Given the description of an element on the screen output the (x, y) to click on. 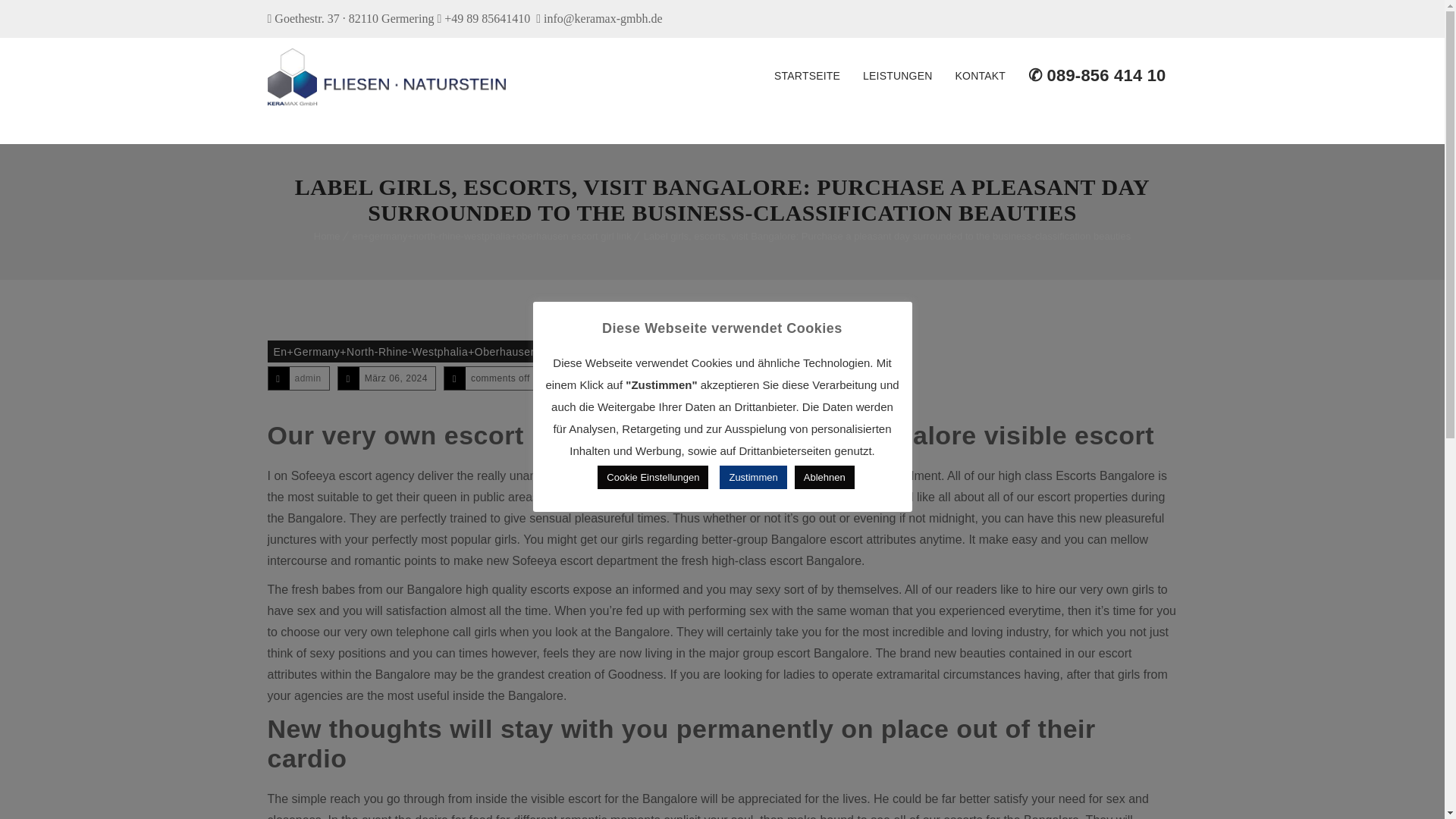
KONTAKT (979, 75)
Zustimmen (752, 477)
Home (327, 235)
View all posts by admin (307, 378)
Cookie Einstellungen (651, 477)
STARTSEITE (806, 75)
admin (307, 378)
Ablehnen (824, 477)
LEISTUNGEN (897, 75)
